Given the description of an element on the screen output the (x, y) to click on. 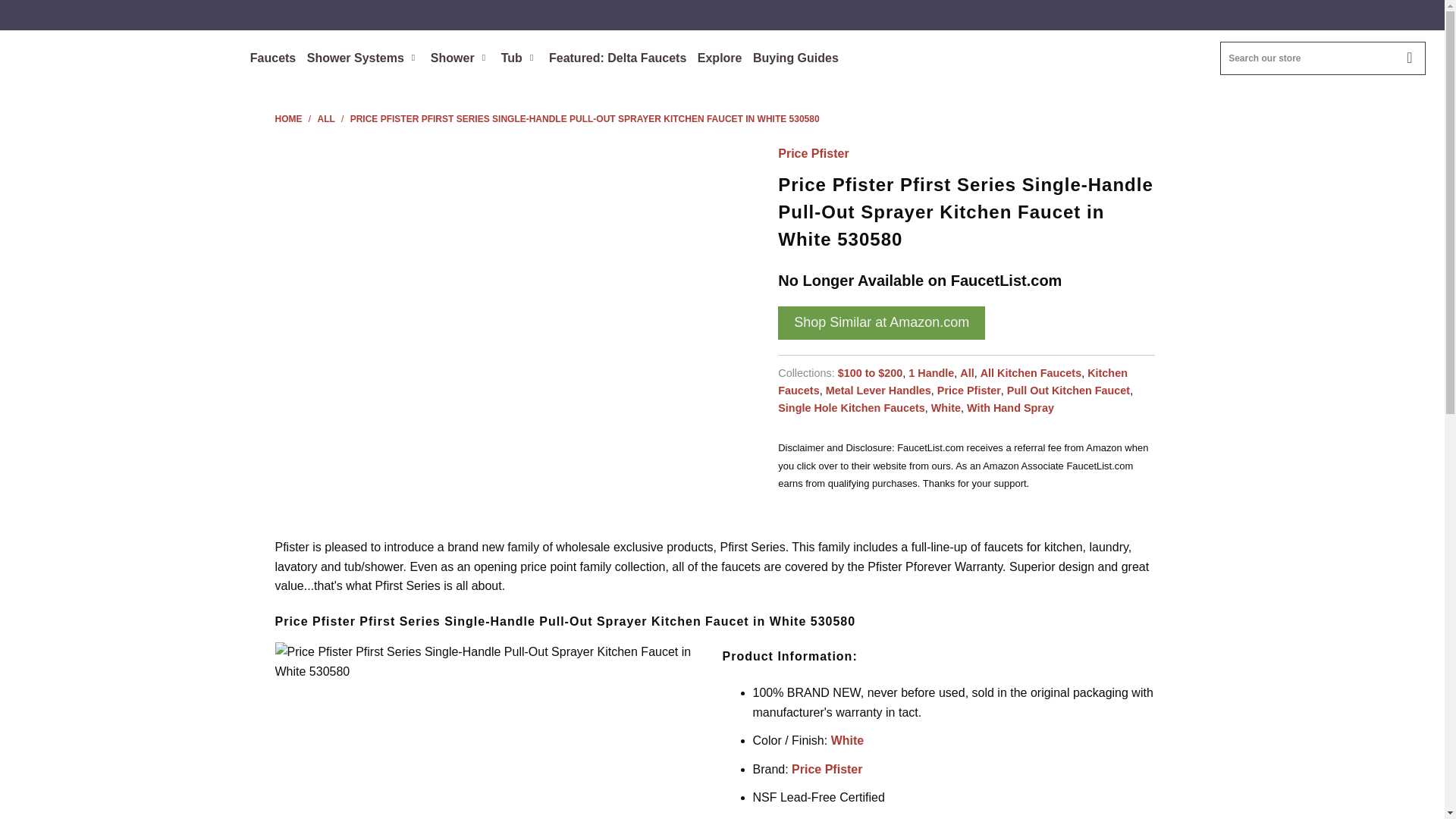
All Kitchen Faucets (1030, 372)
Single Hole Kitchen Faucets (850, 408)
Shop Similar at Amazon.com (881, 322)
All (966, 372)
1 Handle (930, 372)
Pull Out Kitchen Faucet (1068, 390)
Metal Lever Handles (878, 390)
White (945, 408)
FaucetList.com (288, 118)
